Given the description of an element on the screen output the (x, y) to click on. 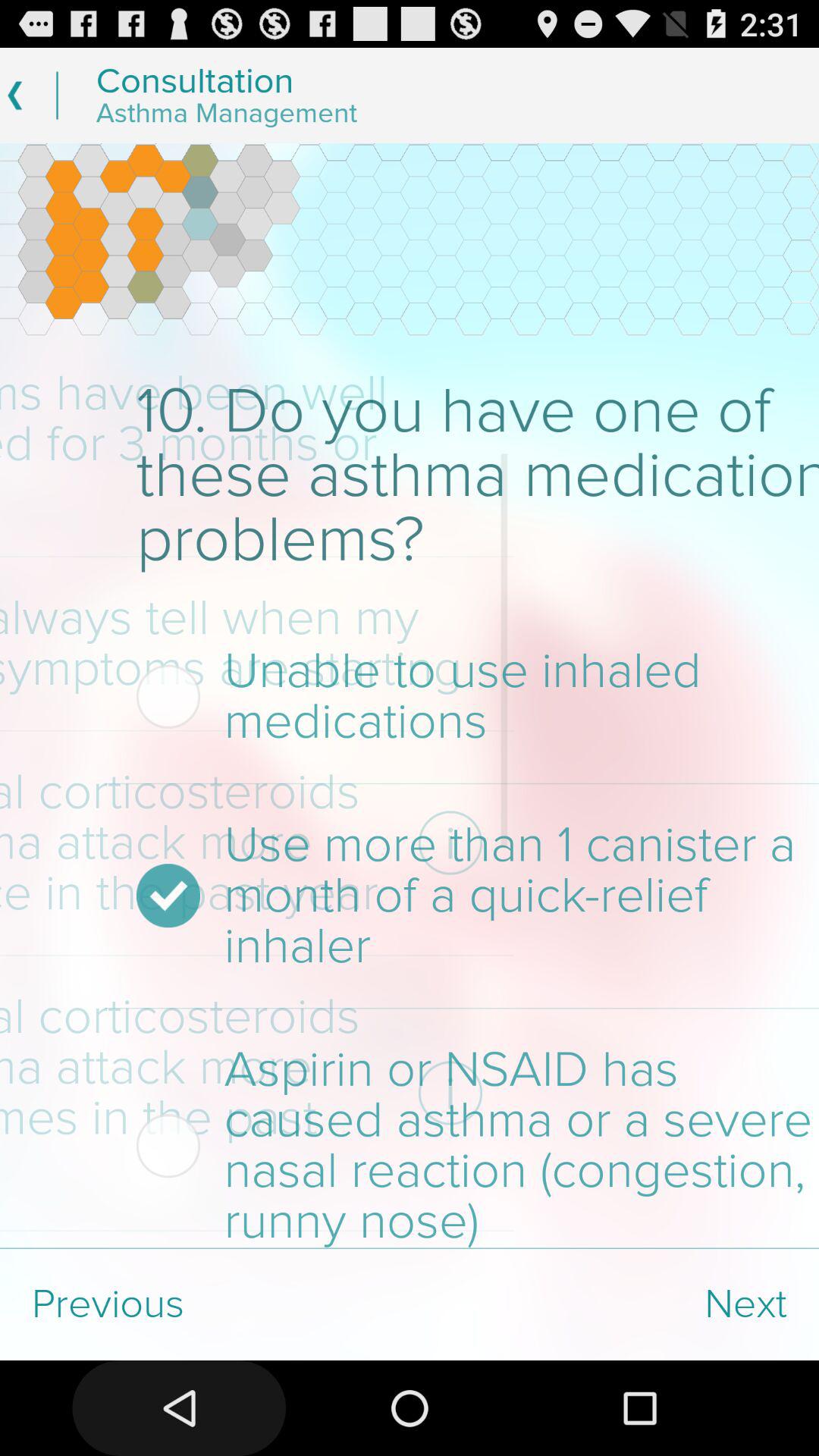
tap the previous (204, 1304)
